Given the description of an element on the screen output the (x, y) to click on. 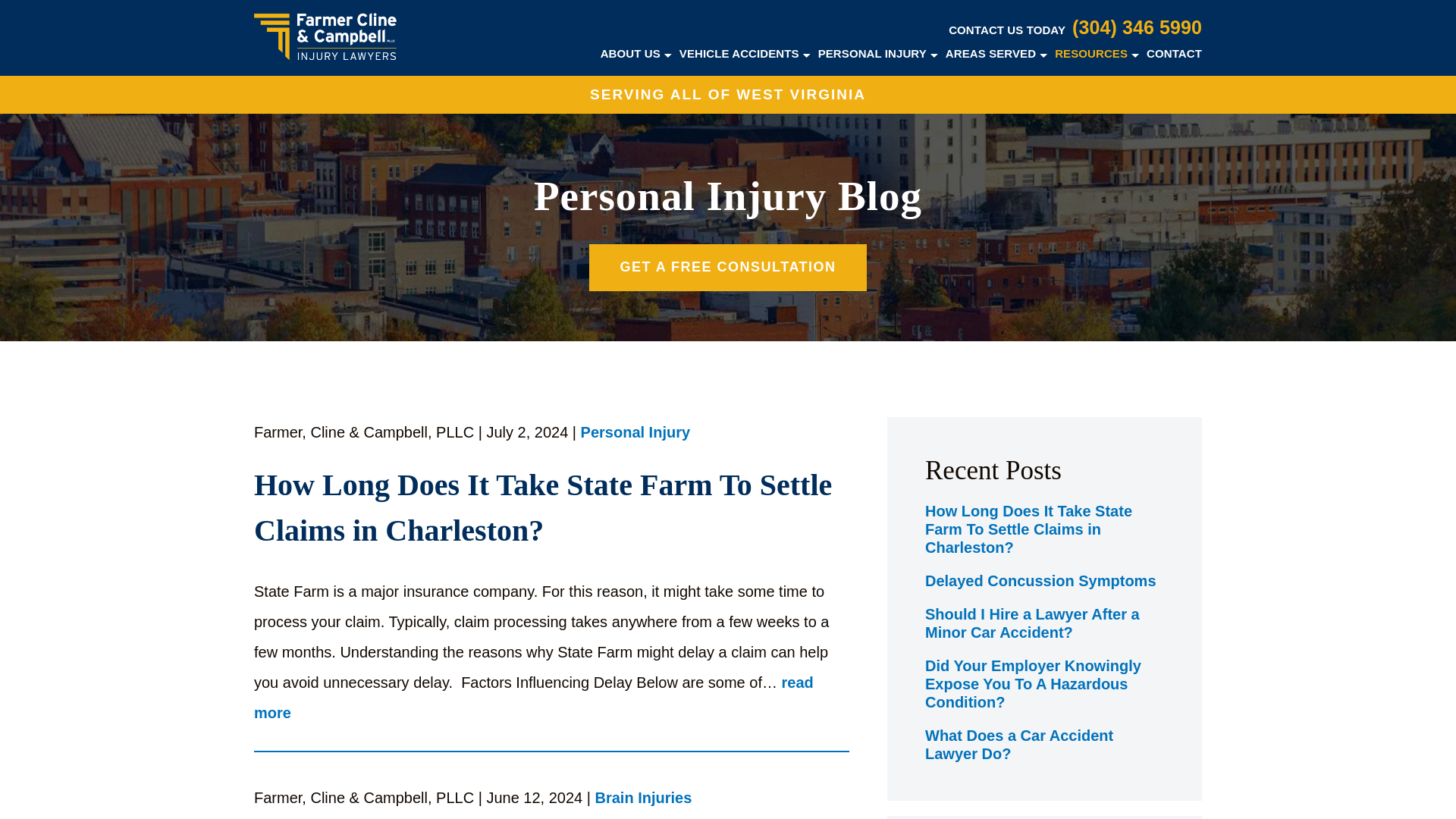
CONTACT (1174, 52)
Brain Injuries (644, 798)
GET A FREE CONSULTATION (727, 267)
read more (533, 698)
VEHICLE ACCIDENTS (739, 52)
ABOUT US (630, 52)
Personal Injury (635, 433)
PERSONAL INJURY (872, 52)
RESOURCES (1090, 52)
AREAS SERVED (989, 52)
